Given the description of an element on the screen output the (x, y) to click on. 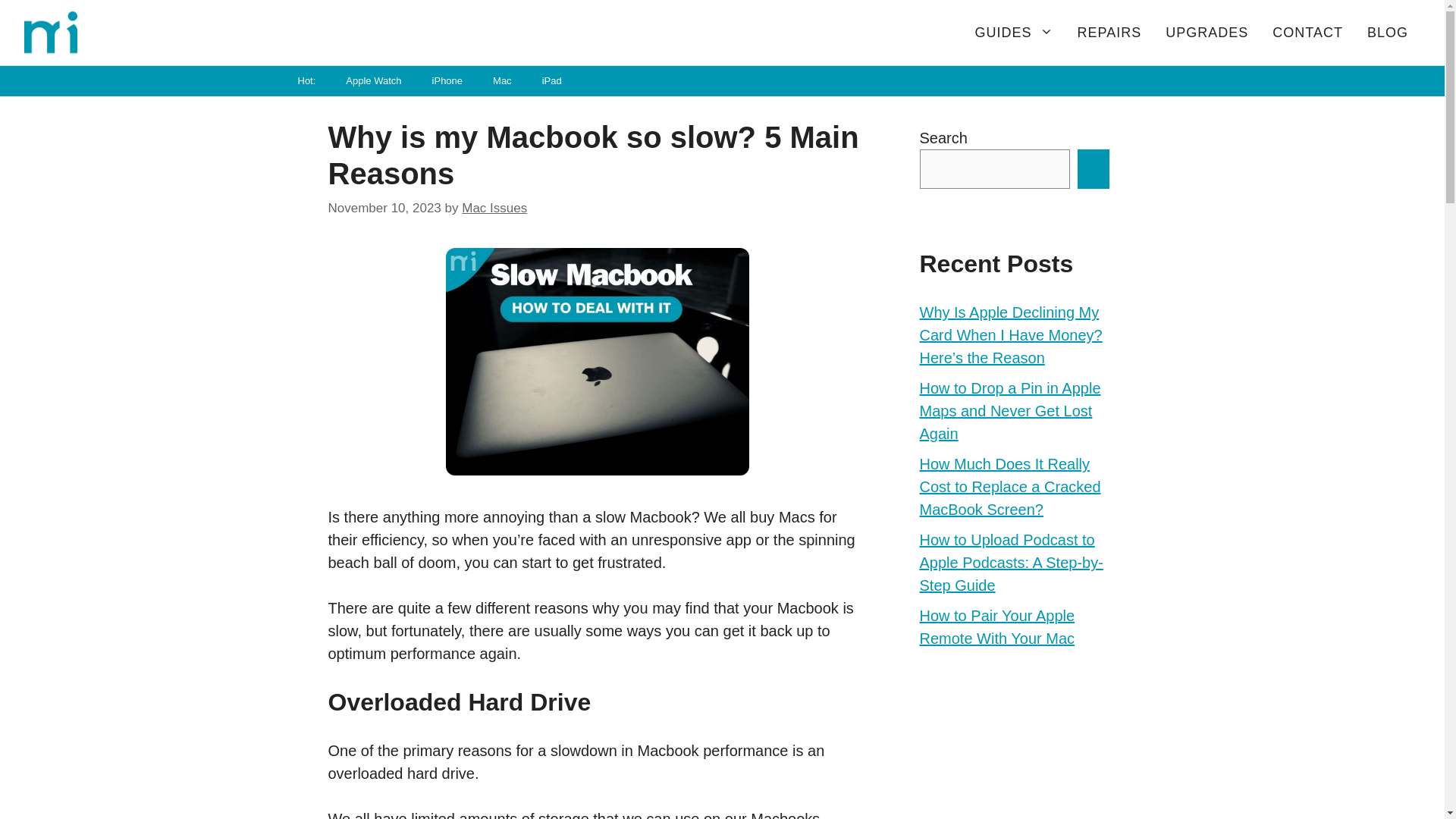
UPGRADES (1206, 32)
Hot: (306, 81)
CONTACT (1307, 32)
BLOG (1388, 32)
GUIDES (1013, 32)
iPad (551, 81)
iPhone (446, 81)
Mac Issues (494, 206)
REPAIRS (1109, 32)
Mac (502, 81)
View all posts by Mac Issues (494, 206)
Apple Watch (373, 81)
